Given the description of an element on the screen output the (x, y) to click on. 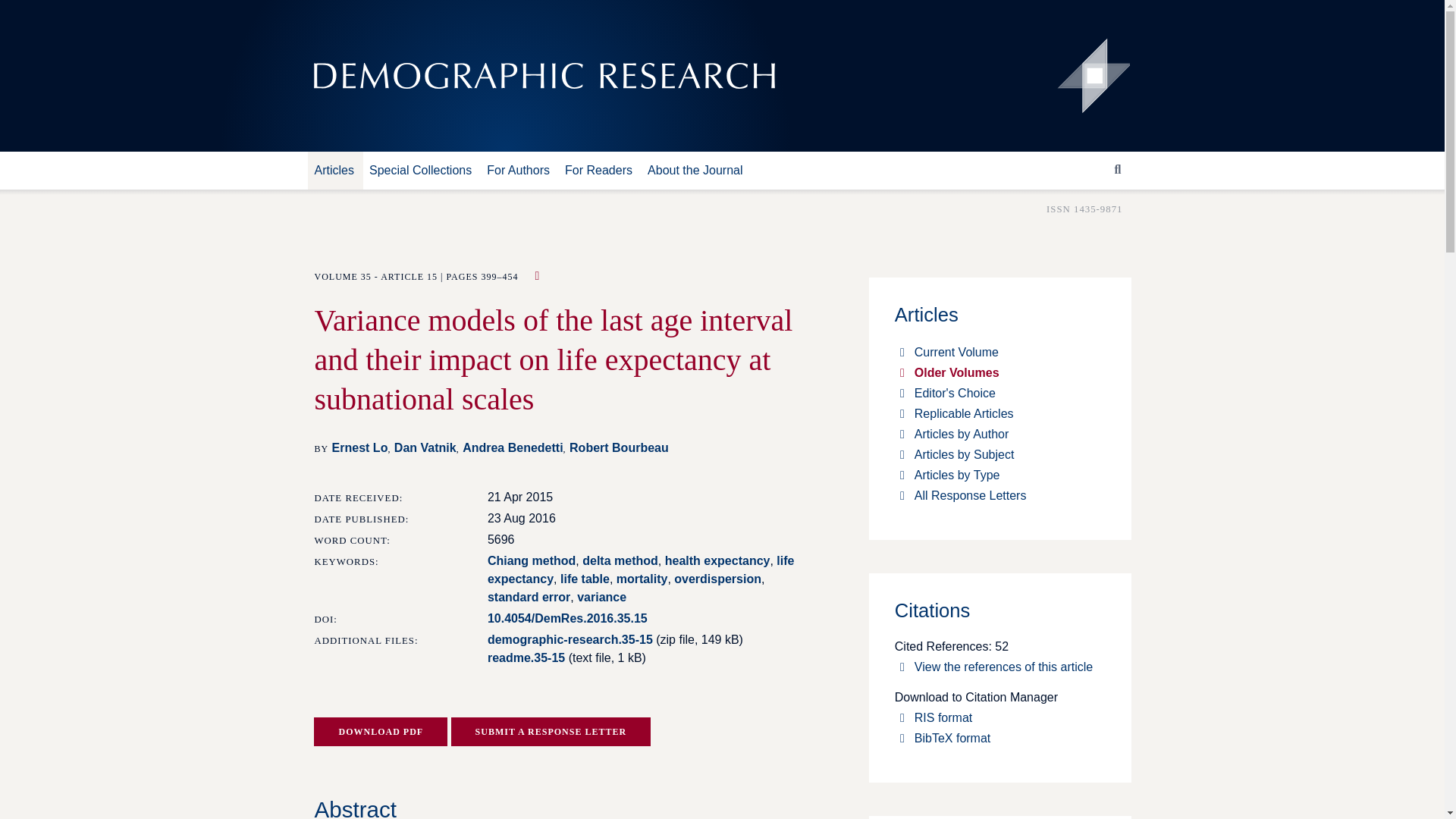
Special Collections (424, 170)
For Readers (603, 170)
Author has provided data and code for replicating results (533, 275)
Articles (338, 170)
For Authors (522, 170)
About the Journal (700, 170)
